Given the description of an element on the screen output the (x, y) to click on. 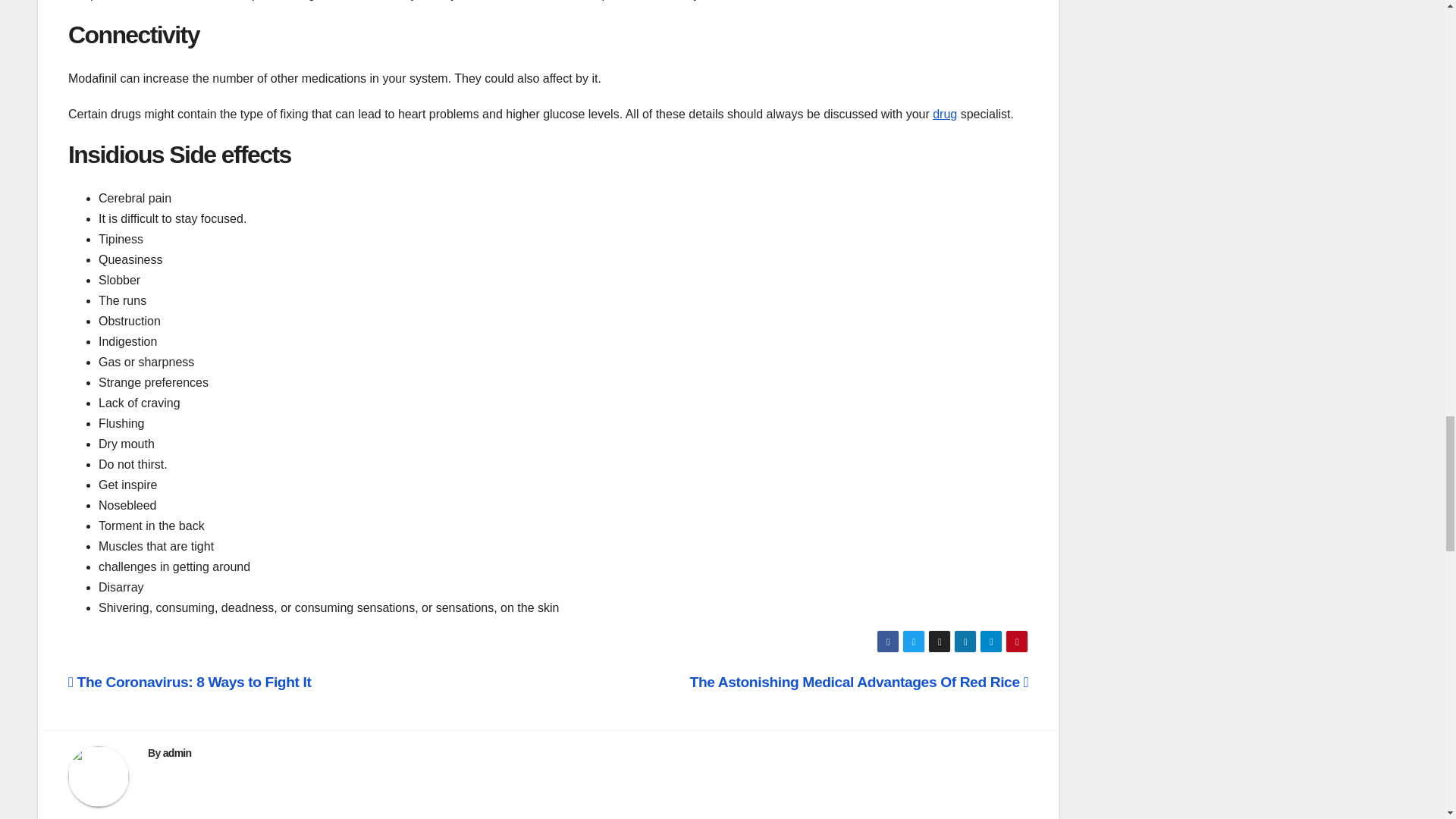
admin (177, 752)
drug (944, 113)
The Astonishing Medical Advantages Of Red Rice (859, 682)
The Coronavirus: 8 Ways to Fight It (189, 682)
